Given the description of an element on the screen output the (x, y) to click on. 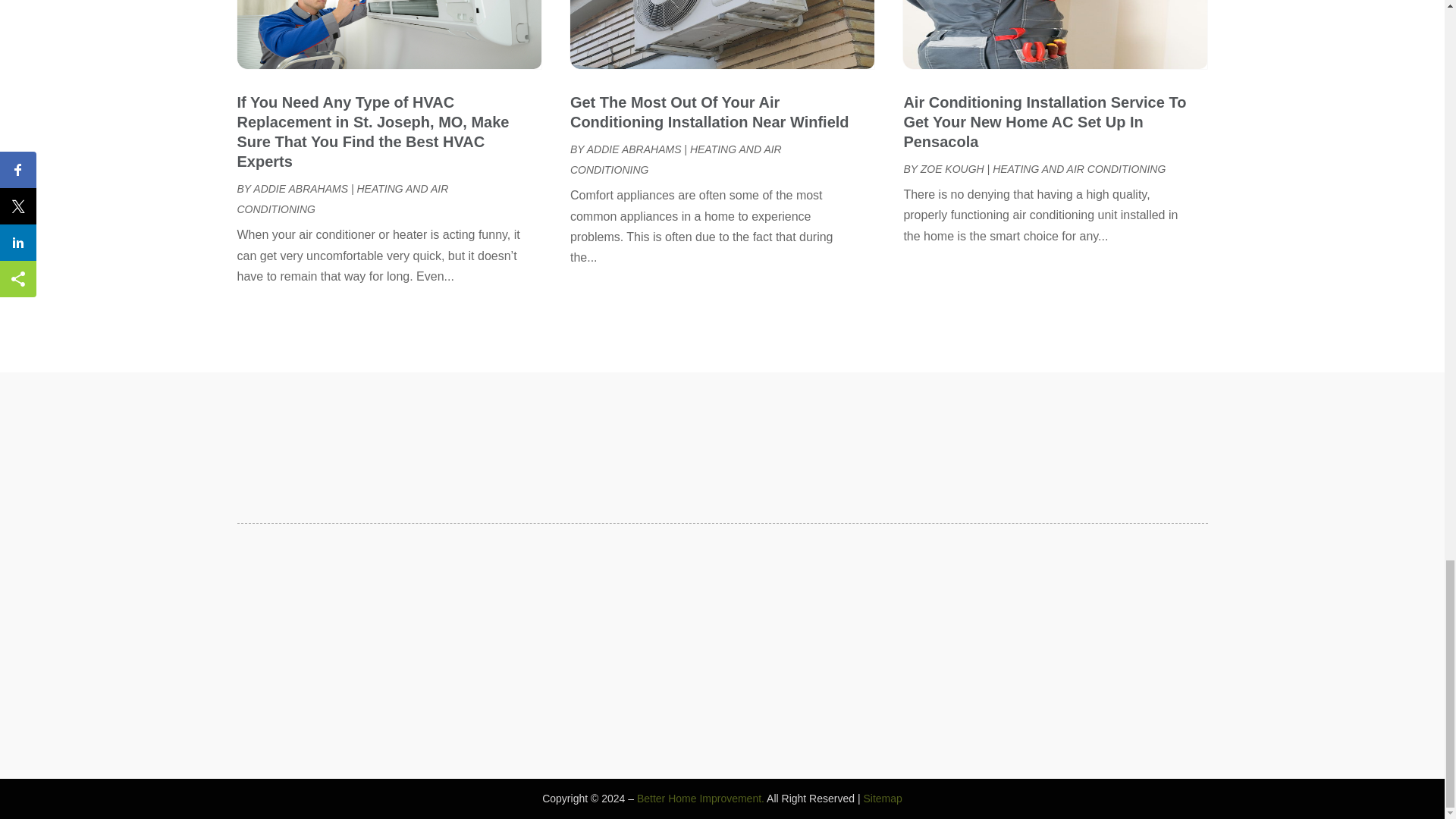
Posts by Addie Abrahams (300, 188)
Posts by Zoe Kough (952, 168)
Posts by Addie Abrahams (633, 149)
